Given the description of an element on the screen output the (x, y) to click on. 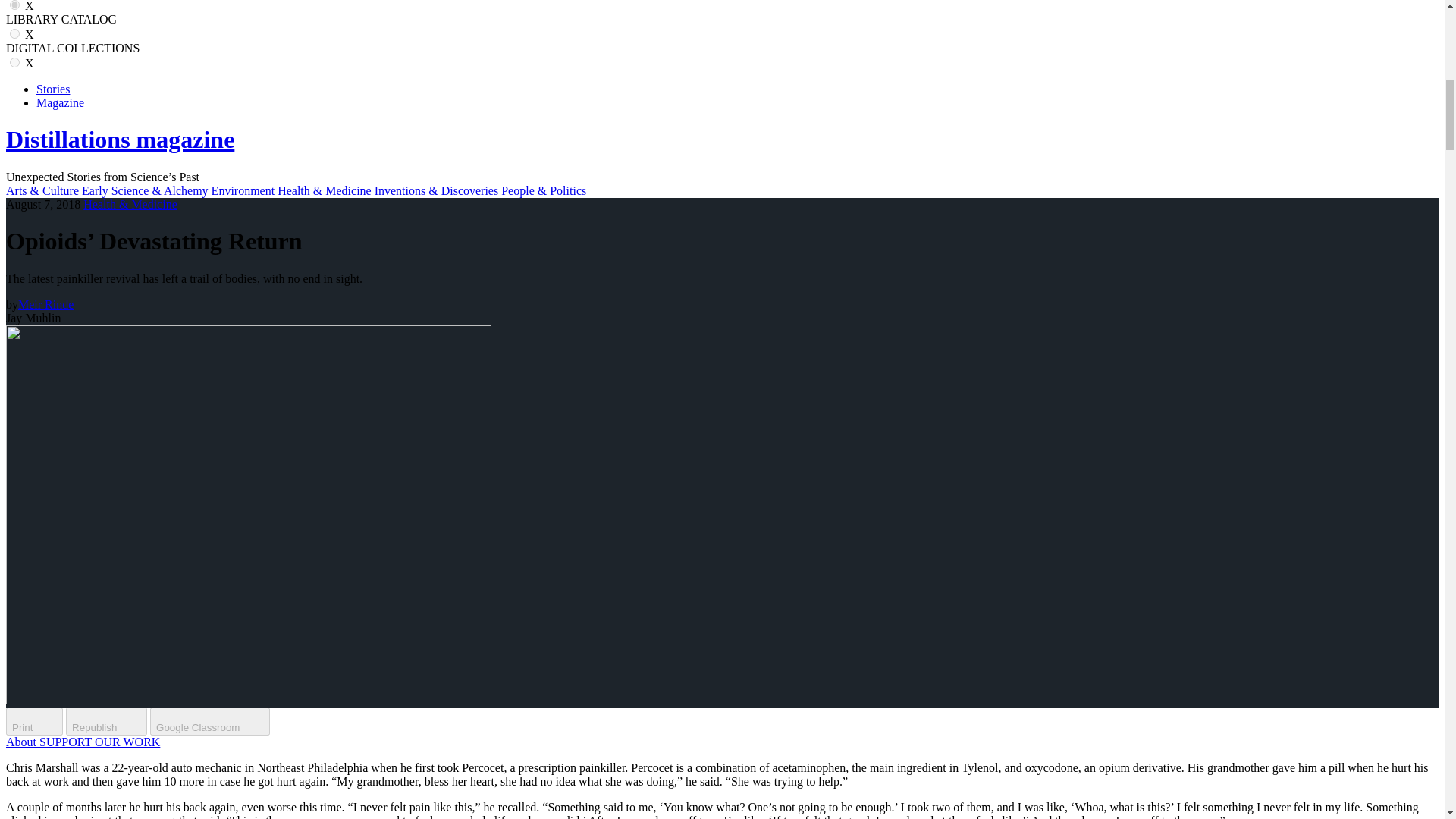
othmerlib (15, 33)
digital (15, 62)
digital (15, 62)
othmerlib (15, 33)
